Given the description of an element on the screen output the (x, y) to click on. 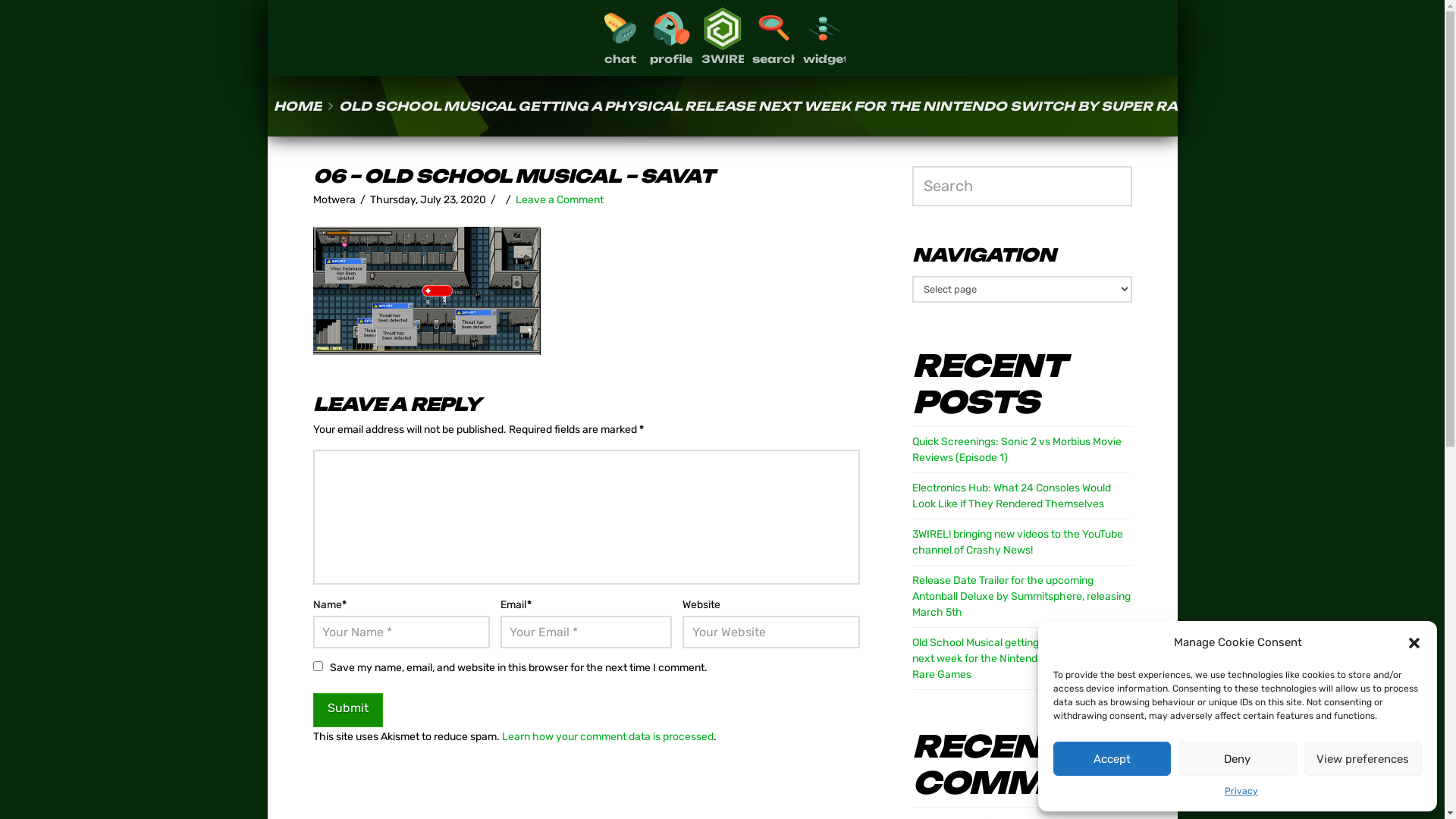
Log In Element type: text (721, 495)
Back to Top Element type: hover (1423, 797)
View preferences Element type: text (1362, 758)
Privacy Element type: text (1241, 791)
Accept Element type: text (1111, 758)
Submit Element type: text (347, 710)
Leave a Comment Element type: text (559, 199)
Deny Element type: text (1236, 758)
HOME Element type: text (297, 106)
Learn how your comment data is processed Element type: text (607, 736)
